Given the description of an element on the screen output the (x, y) to click on. 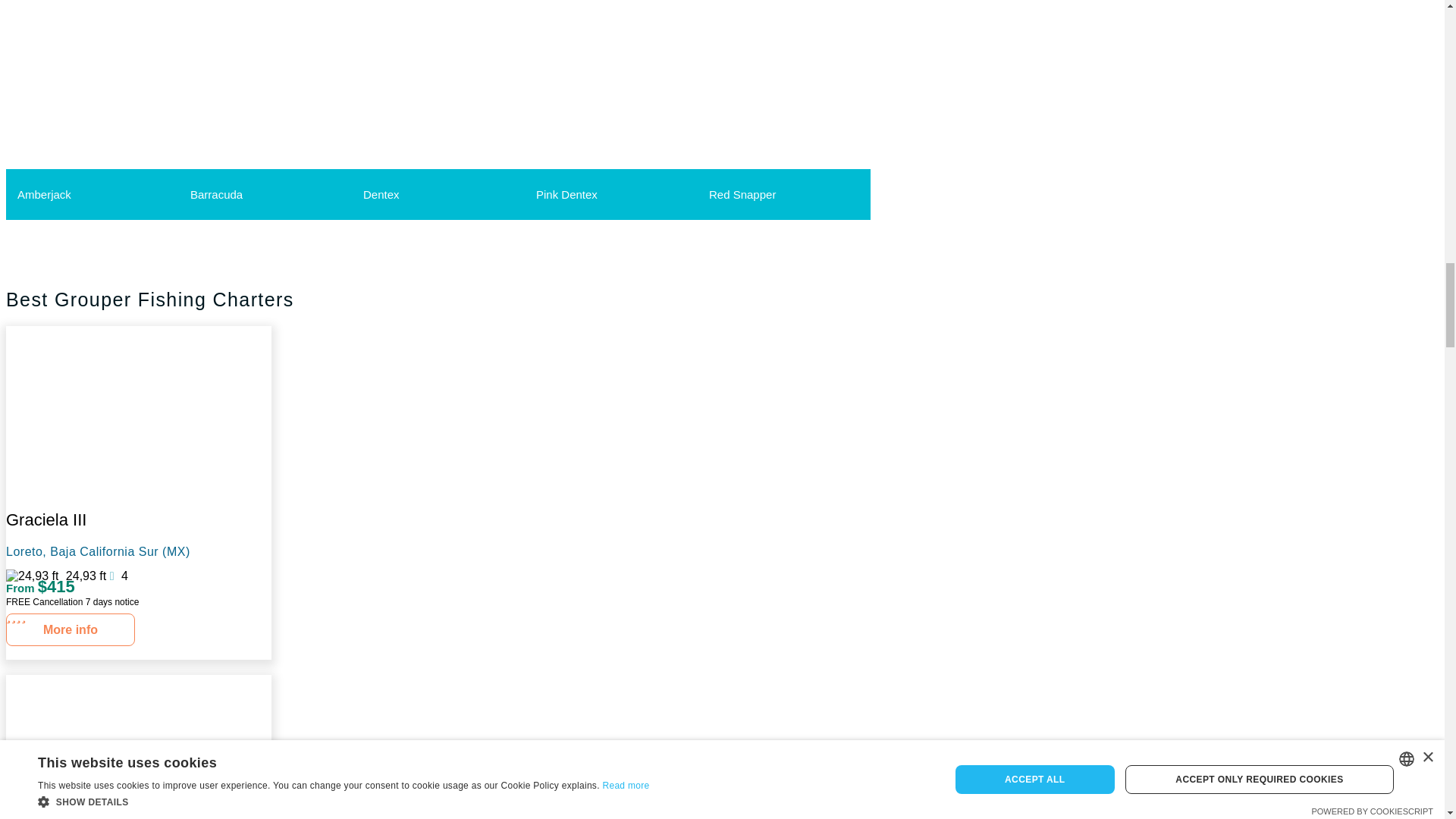
More info (70, 629)
